Given the description of an element on the screen output the (x, y) to click on. 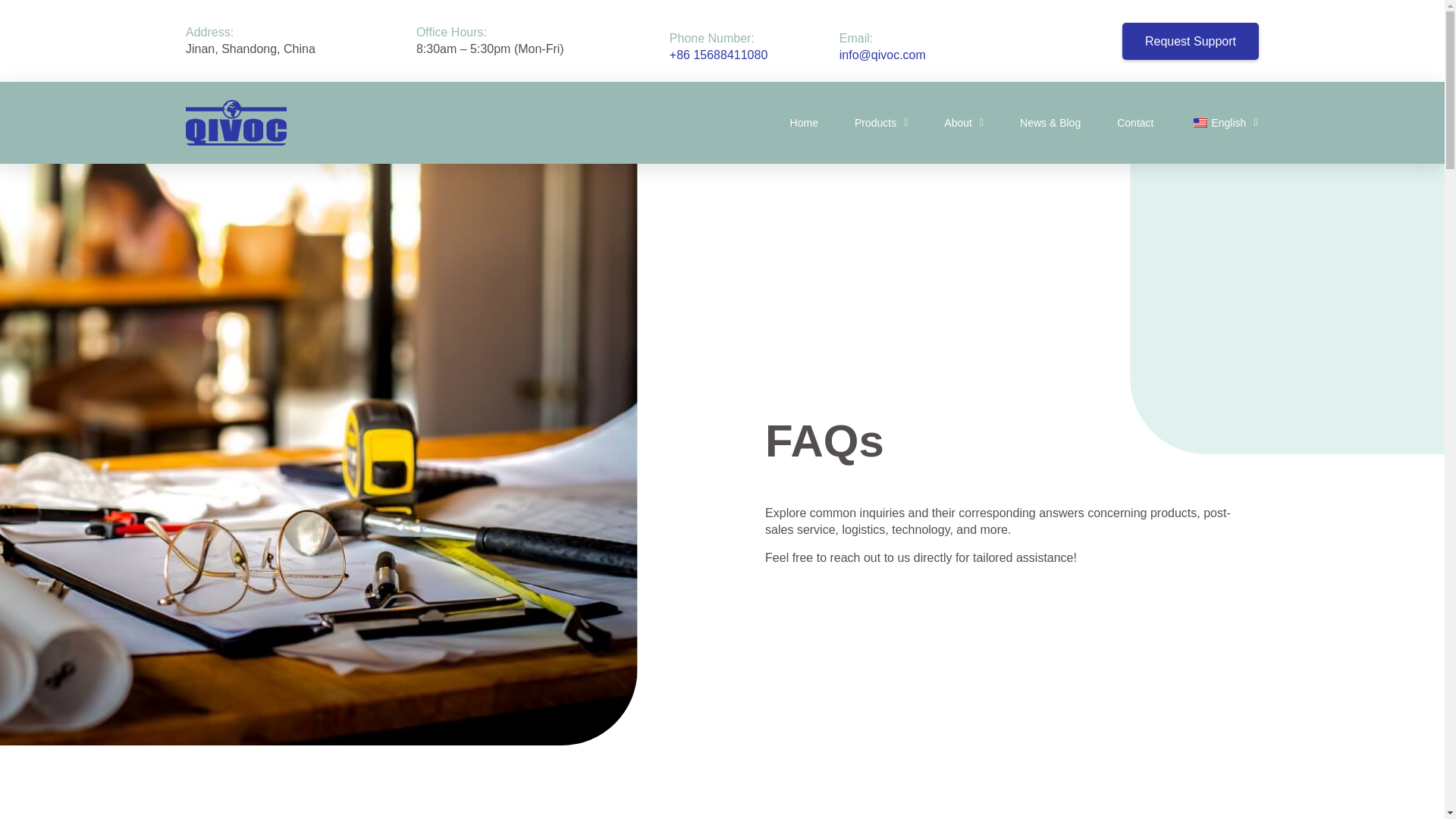
Contact (1134, 122)
English (1223, 122)
Request Support (1190, 40)
About (963, 122)
Products (880, 122)
Home (804, 122)
English (1200, 122)
